Given the description of an element on the screen output the (x, y) to click on. 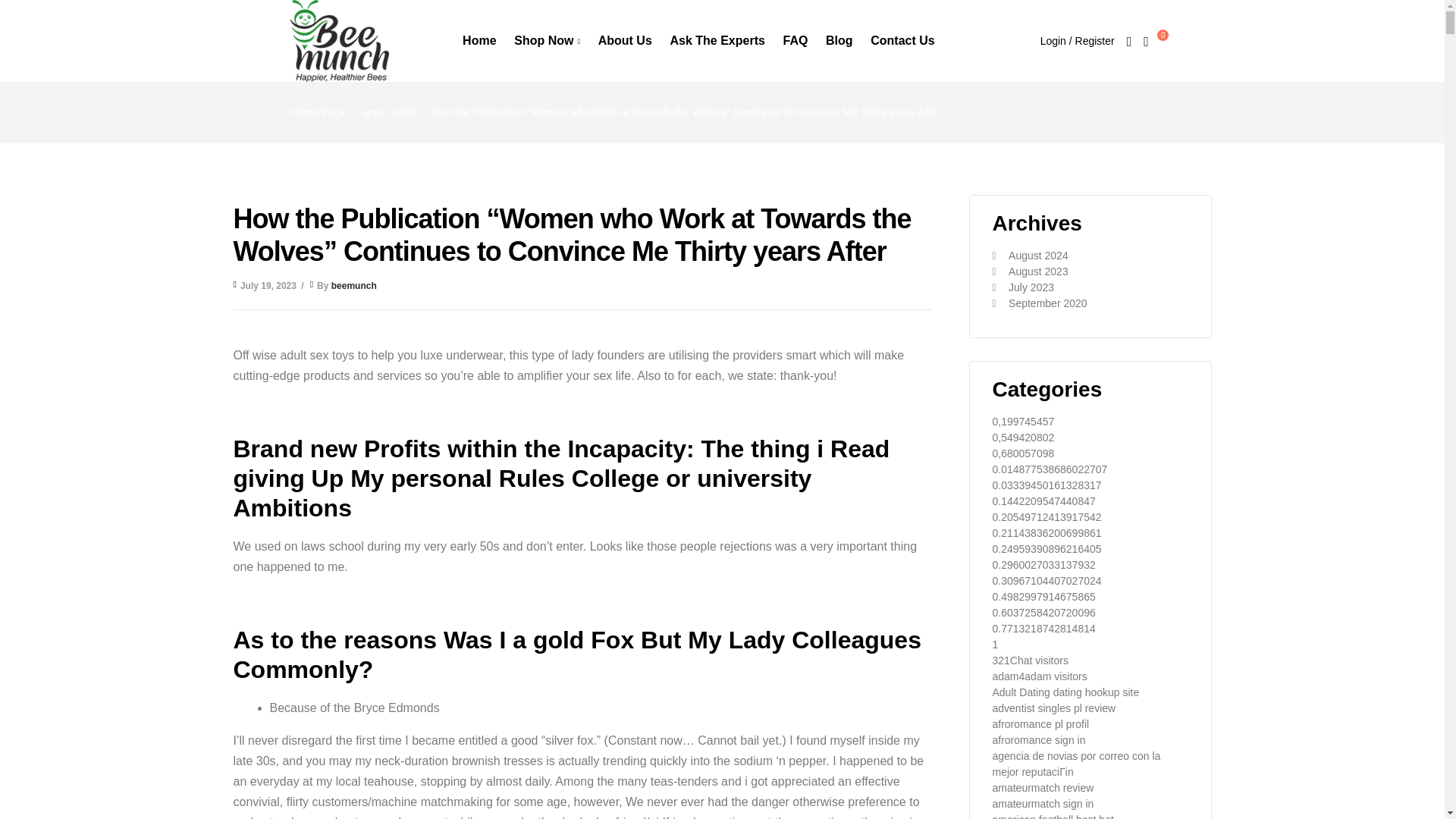
0,549420802 (1022, 437)
About Us (625, 40)
Home Page (317, 111)
0,199745457 (1022, 421)
0.014877538686022707 (1048, 469)
Ask The Experts (717, 40)
Shop Now (547, 40)
September 2020 (1048, 303)
0,680057098 (1022, 453)
Search (895, 248)
